Given the description of an element on the screen output the (x, y) to click on. 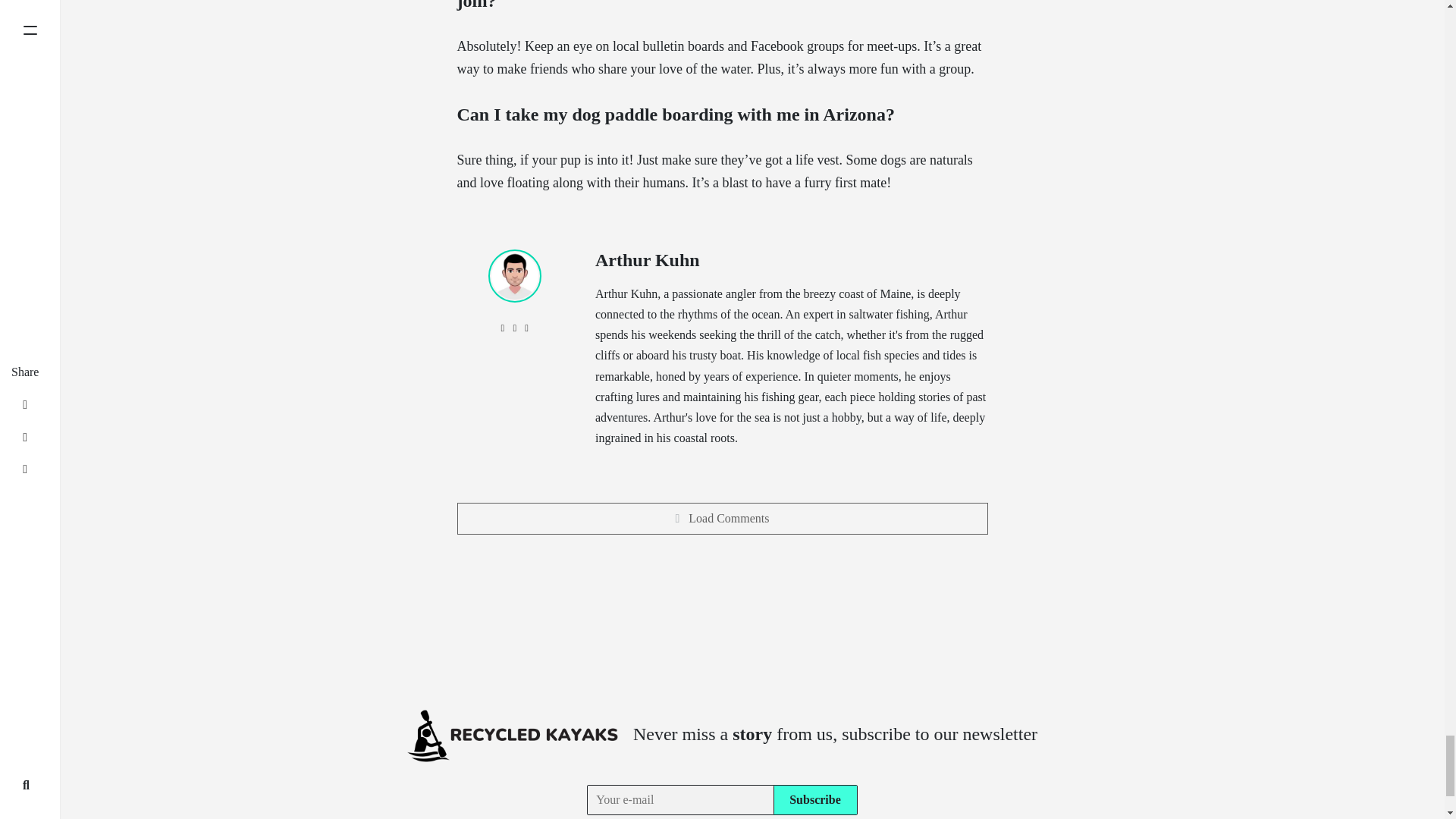
  Load Comments (722, 518)
Subscribe (815, 799)
Subscribe (815, 799)
